Given the description of an element on the screen output the (x, y) to click on. 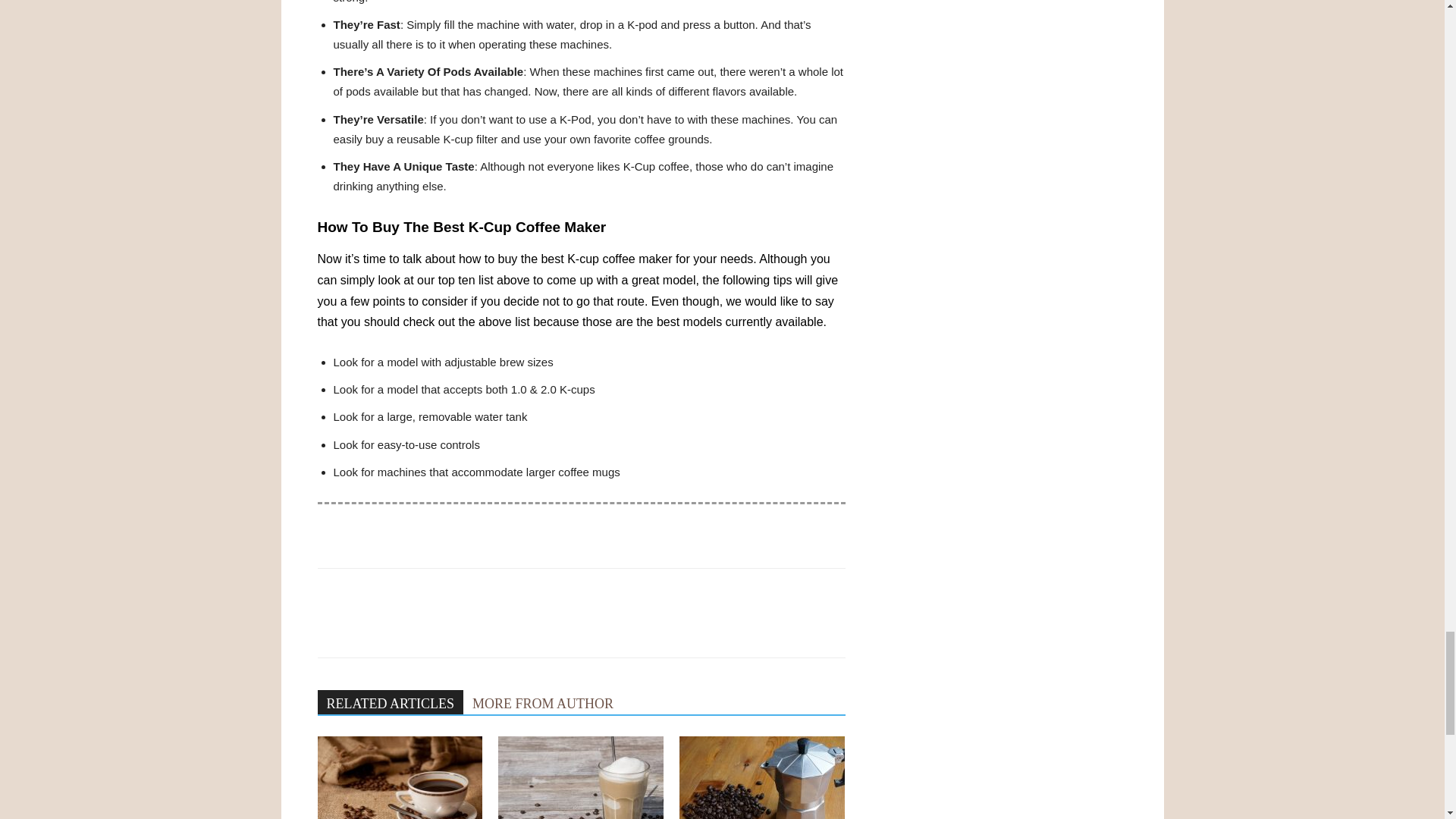
Best Low Acid Coffees of 2022 (399, 777)
Best Iced Coffees of 2022 (580, 777)
bottomFacebookLike (430, 592)
Best Stovetop Espresso Makers of 2022 (761, 777)
